Given the description of an element on the screen output the (x, y) to click on. 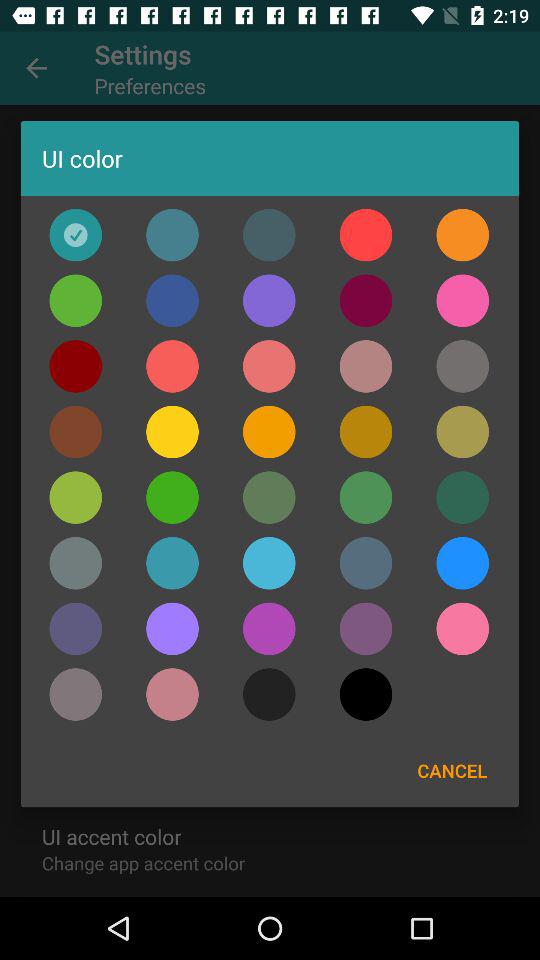
select ui color gold (75, 431)
